Given the description of an element on the screen output the (x, y) to click on. 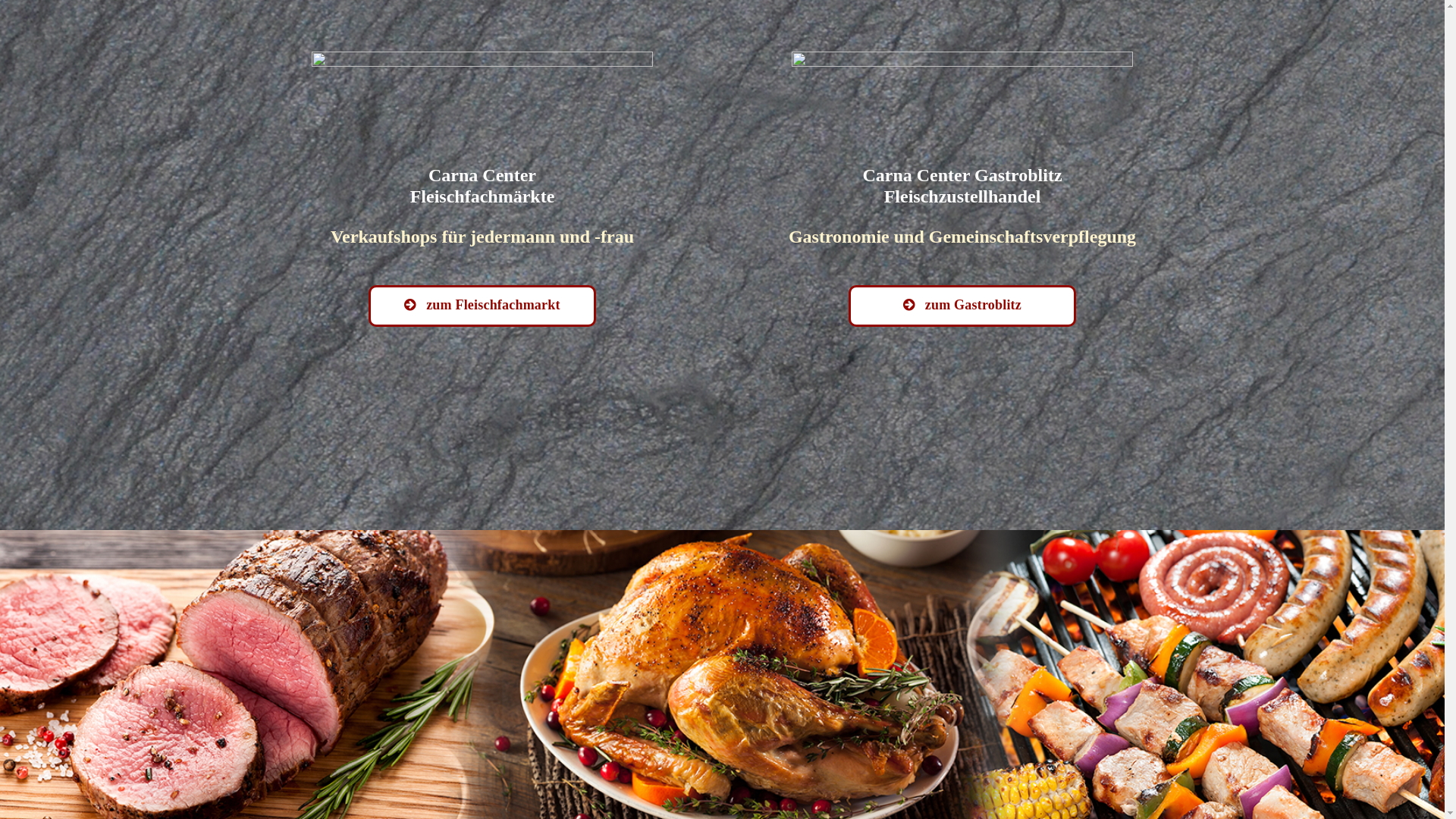
zum Gastroblitz Element type: text (962, 305)
gastroblitz-450x124px Element type: hover (961, 98)
zum Fleischfachmarkt Element type: text (482, 305)
fleischfachmaerkte-450x124px Element type: hover (481, 98)
